Given the description of an element on the screen output the (x, y) to click on. 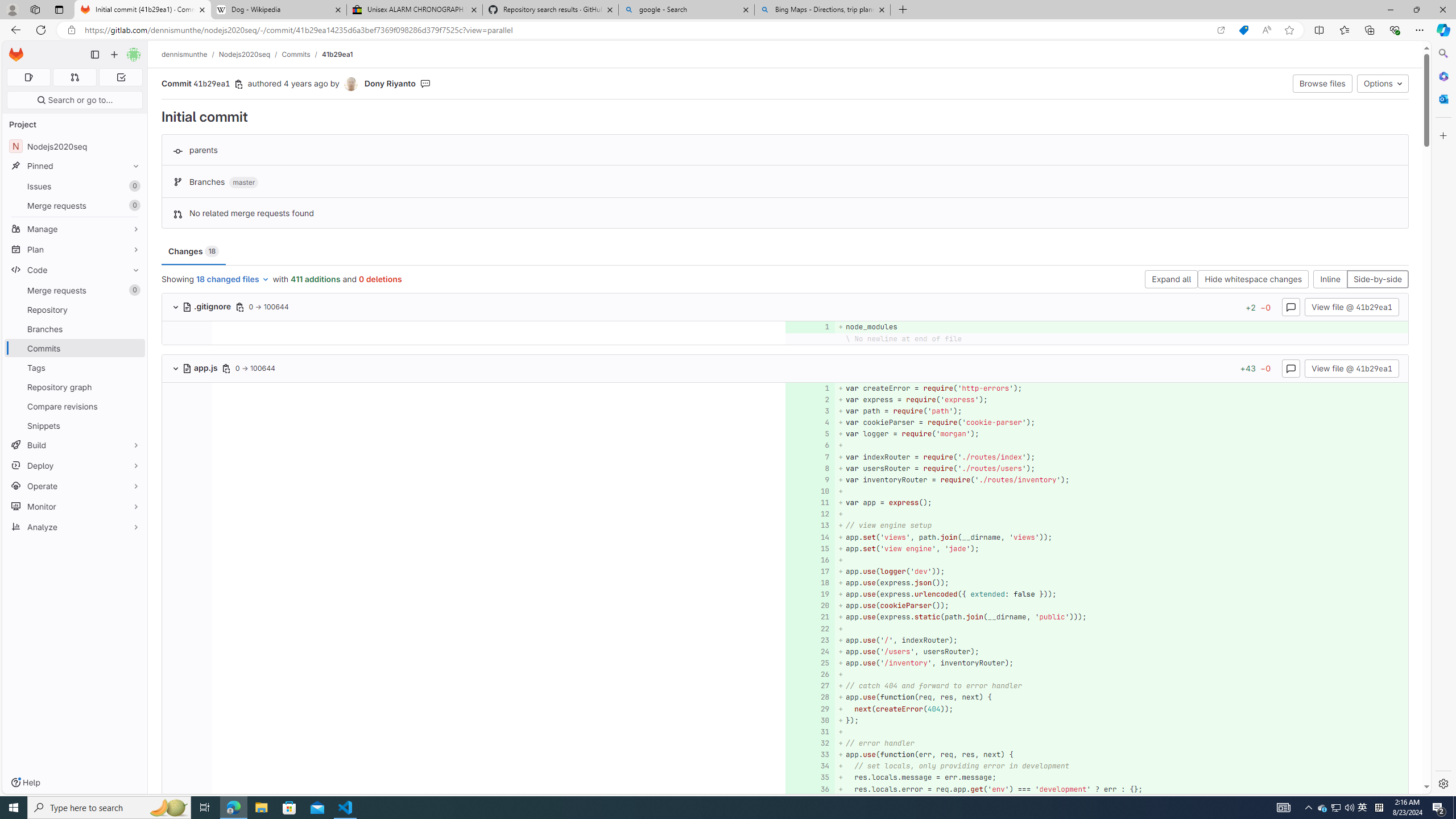
Add a comment to this line 14 (809, 536)
Add a comment to this line 8 (809, 468)
Changes 18 (193, 251)
Side bar (1443, 418)
Pin Commits (132, 348)
Operate (74, 485)
Build (74, 444)
Add a comment to this line 18 (809, 582)
dennismunthe/ (189, 53)
Add a comment to this line 31 (809, 731)
Plan (74, 248)
